Given the description of an element on the screen output the (x, y) to click on. 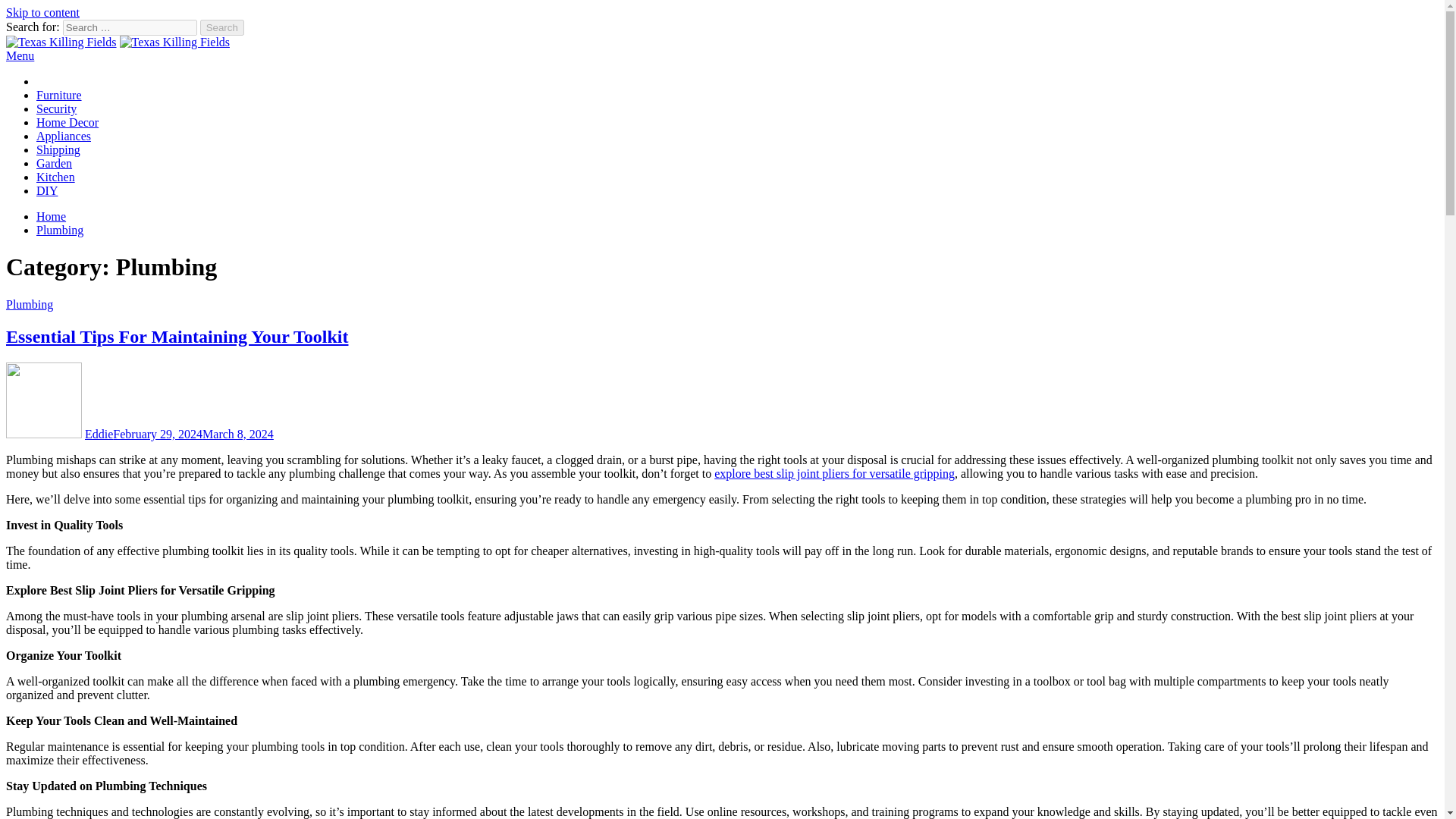
February 29, 2024March 8, 2024 (193, 433)
explore best slip joint pliers for versatile gripping (834, 472)
Search (222, 27)
Furniture (58, 94)
Security (56, 108)
Kitchen (55, 176)
Skip to content (42, 11)
Plumbing (59, 229)
Texas Killing Fields (54, 67)
Plumbing (28, 304)
Search (222, 27)
Garden (53, 163)
Shipping (58, 149)
Home Decor (67, 122)
Essential Tips For Maintaining Your Toolkit (176, 336)
